Given the description of an element on the screen output the (x, y) to click on. 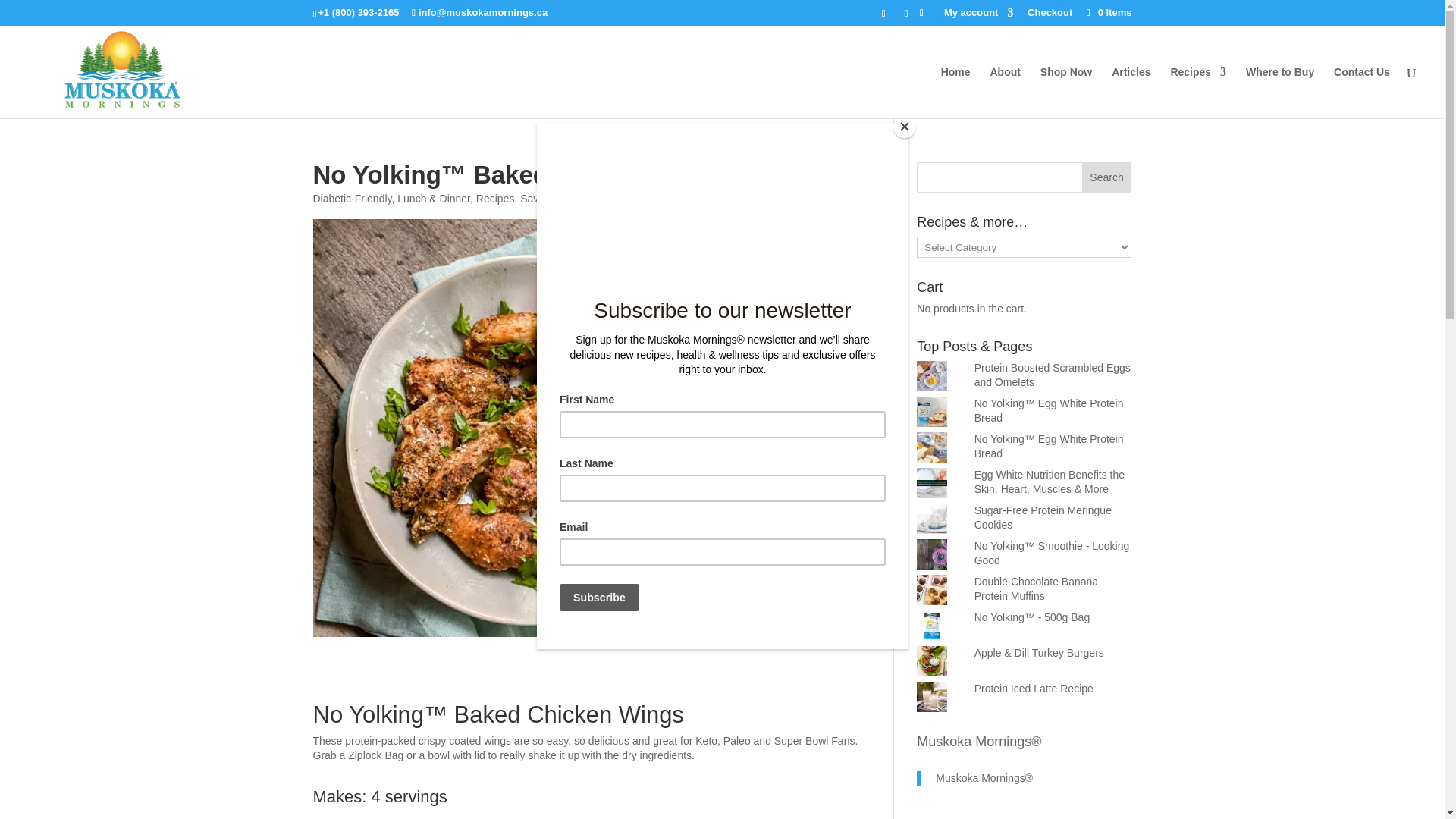
0 Items (1107, 12)
Double Chocolate Banana Protein Muffins (1035, 588)
My account (978, 16)
Recipes (1197, 91)
Sugar-Free Protein Meringue Cookies (1043, 517)
Contact Us (1361, 91)
Checkout (1049, 16)
Where to Buy (1280, 91)
Search (1106, 177)
Protein Boosted Scrambled Eggs and Omelets (1052, 375)
Shop Now (1066, 91)
